Given the description of an element on the screen output the (x, y) to click on. 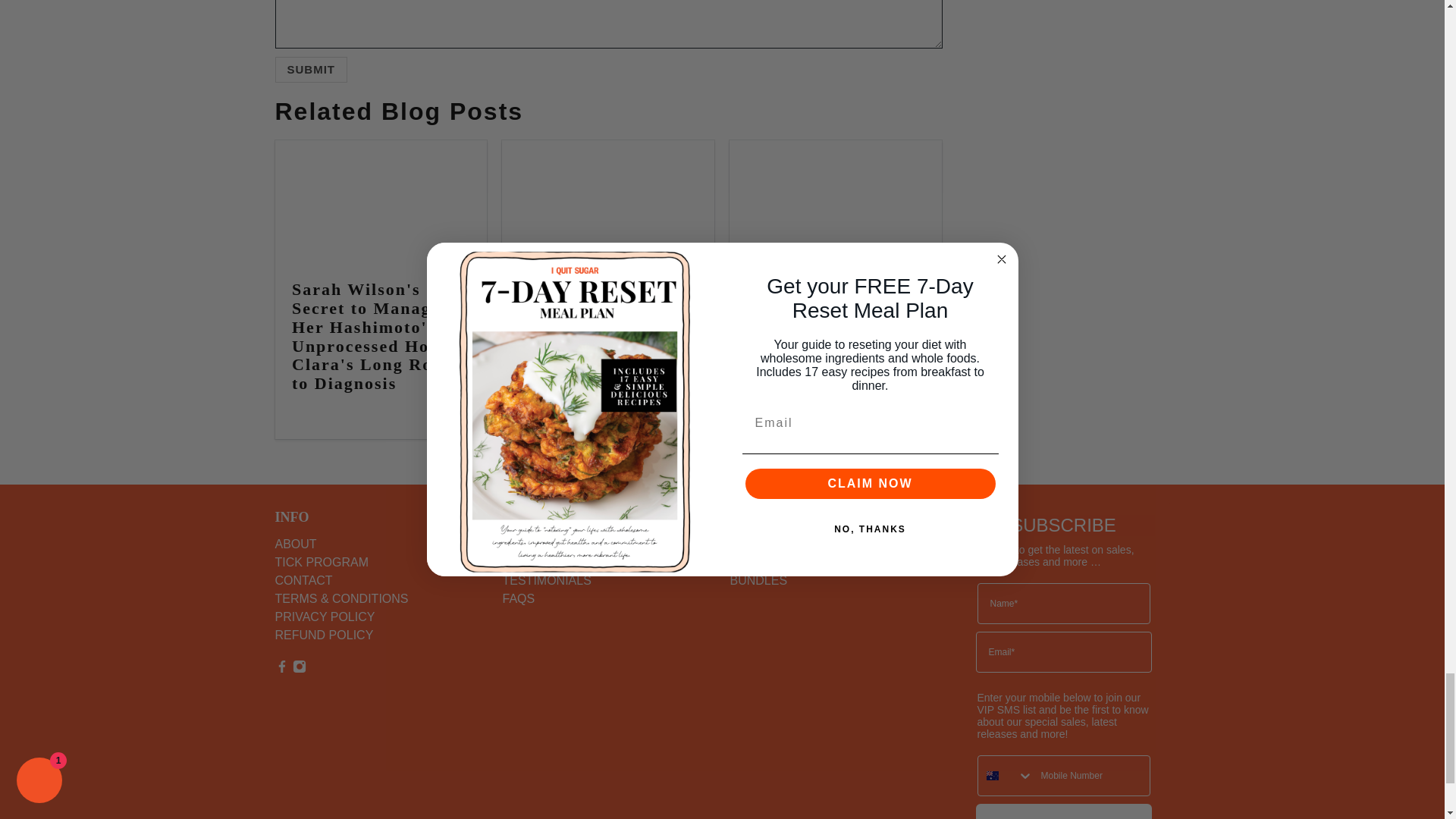
Submit (311, 69)
